Given the description of an element on the screen output the (x, y) to click on. 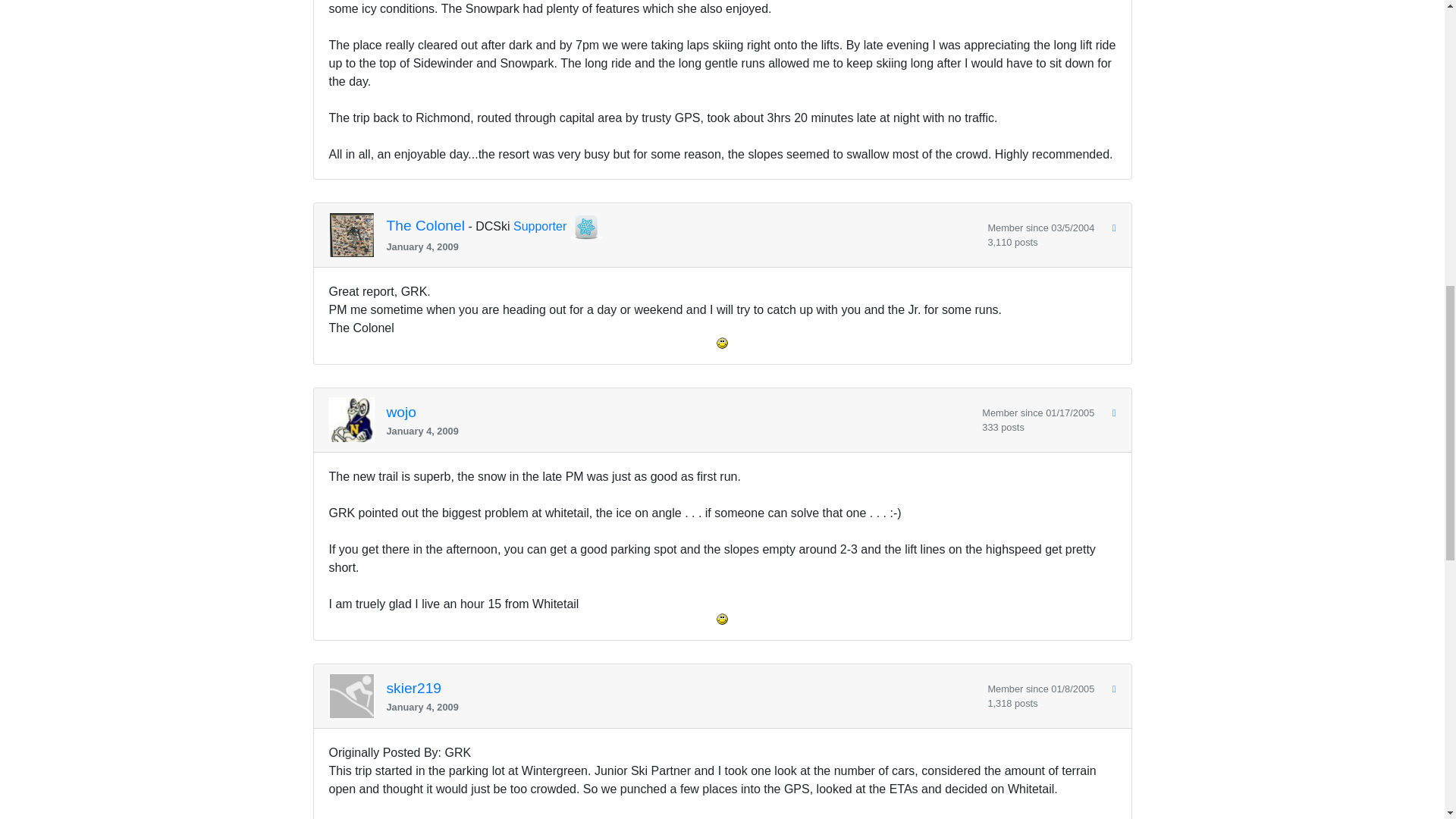
wojo (401, 412)
January 4, 2009 at 02:17 am (681, 246)
The Colonel (425, 226)
smile (722, 618)
January 4, 2009 at 07:21 am (679, 431)
smile (722, 342)
skier219 (414, 688)
January 4, 2009 at 10:04 am (681, 707)
Supporter (539, 226)
